Given the description of an element on the screen output the (x, y) to click on. 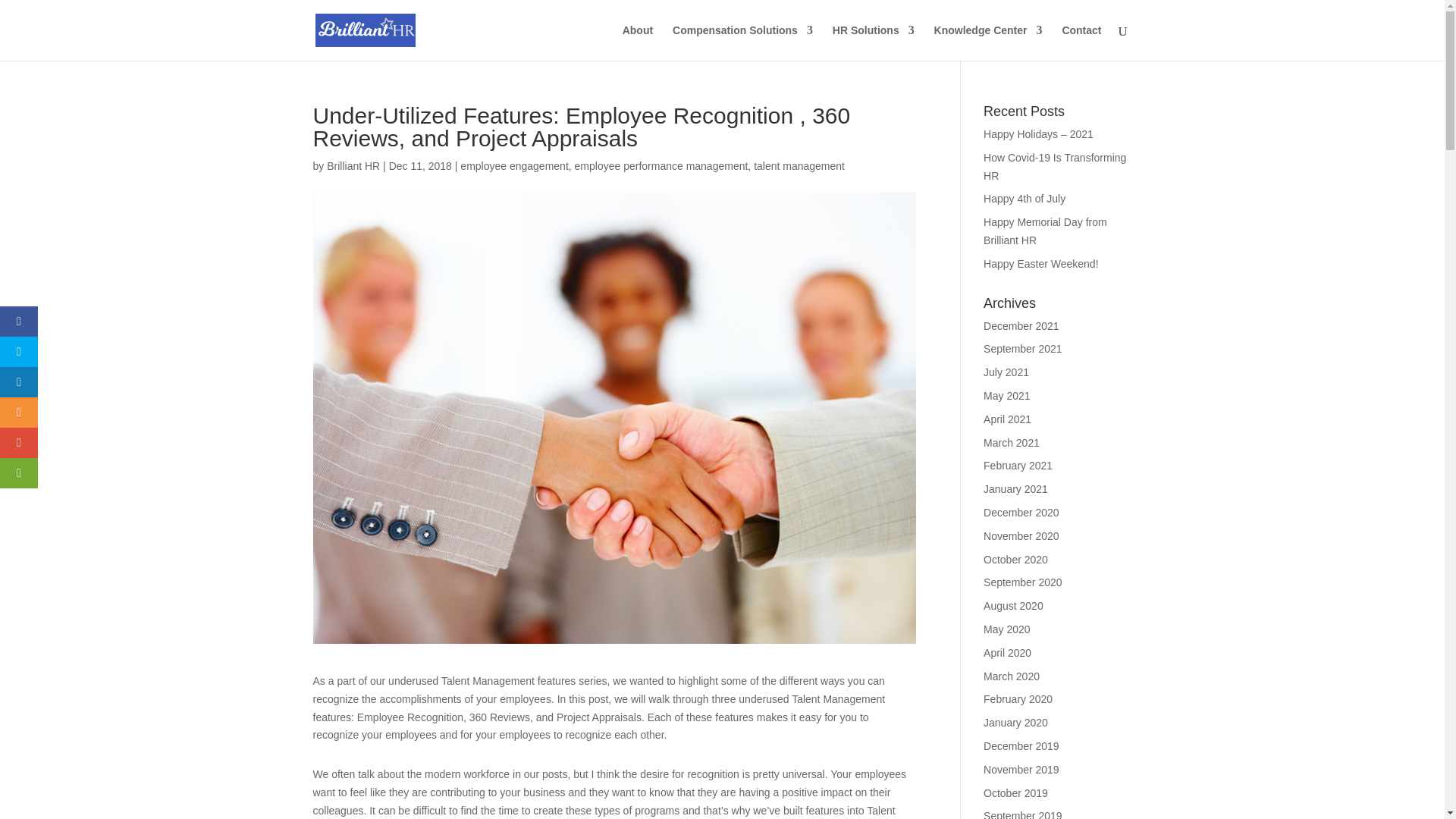
Compensation Solutions (742, 42)
Brilliant HR (353, 165)
HR Solutions (873, 42)
Posts by Brilliant HR (353, 165)
talent management (799, 165)
Contact (1080, 42)
employee performance management (661, 165)
employee engagement (513, 165)
Knowledge Center (988, 42)
